Given the description of an element on the screen output the (x, y) to click on. 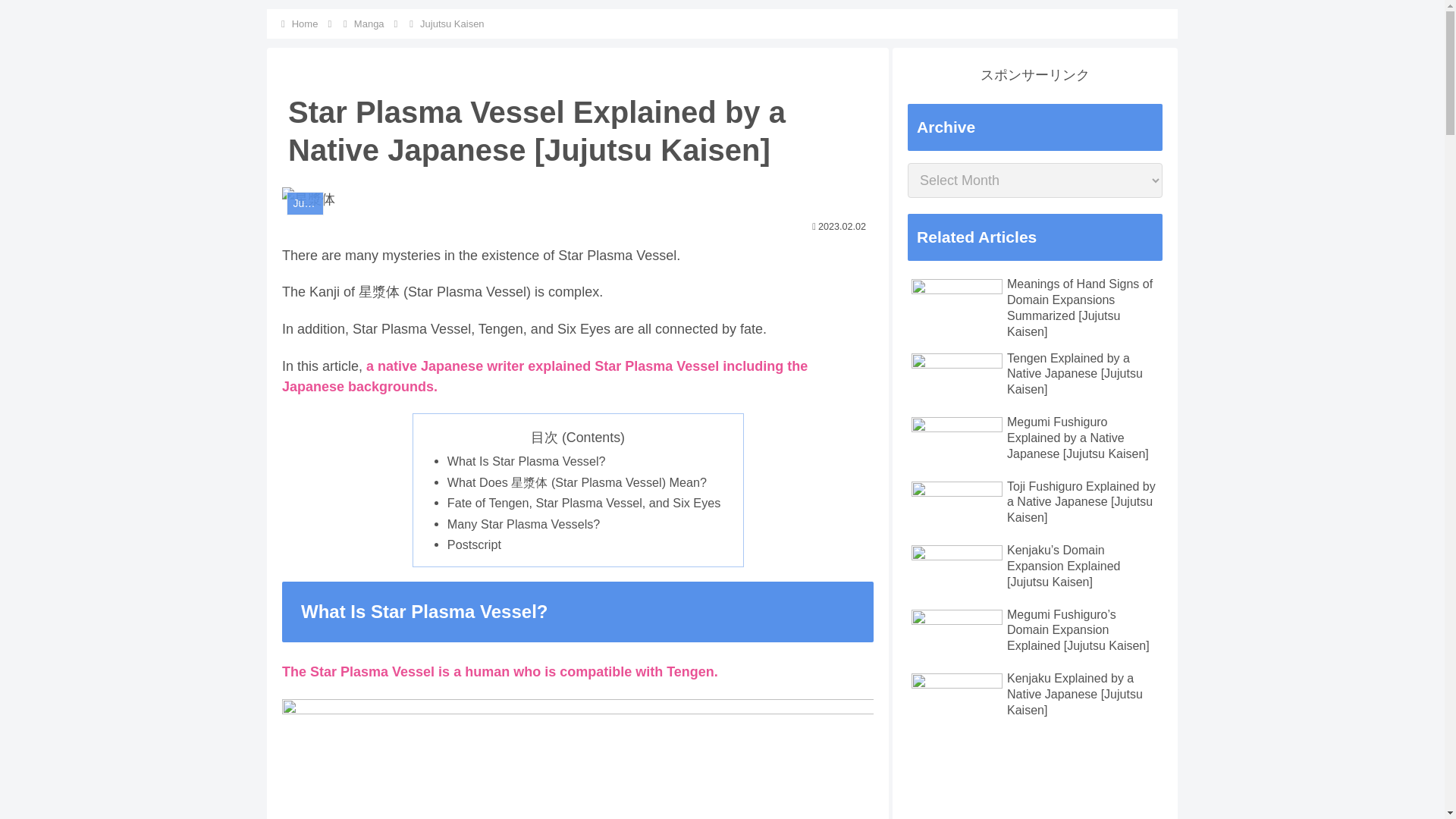
Home (304, 23)
Jujutsu Kaisen (451, 23)
Fate of Tengen, Star Plasma Vessel, and Six Eyes (583, 502)
What Is Star Plasma Vessel? (525, 460)
Many Star Plasma Vessels? (522, 523)
Postscript (473, 544)
Related Articles (1034, 237)
Manga (369, 23)
